Given the description of an element on the screen output the (x, y) to click on. 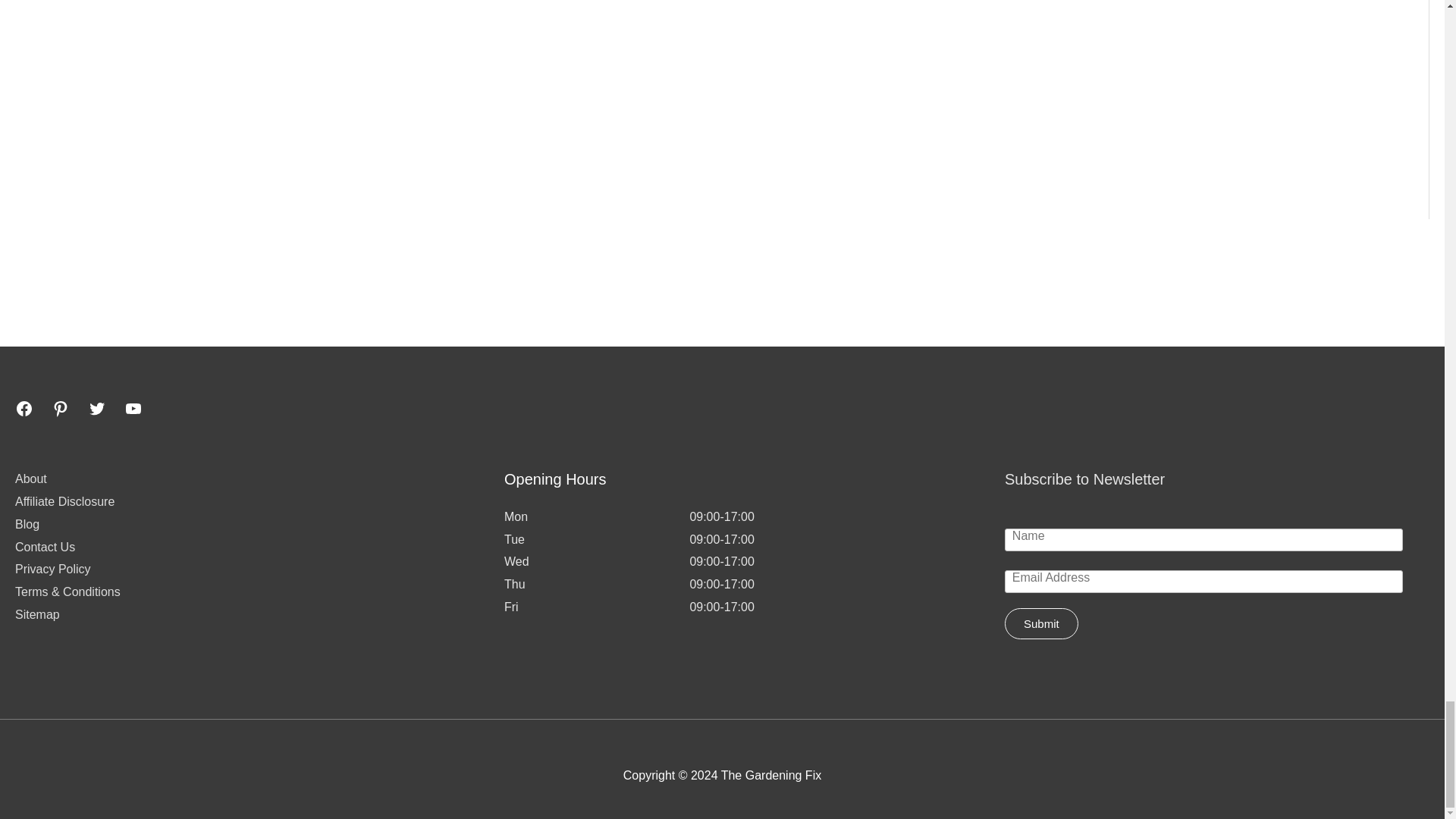
Submit (1041, 623)
Affiliate Disclosure (64, 501)
Twitter (96, 408)
Blog (26, 523)
Facebook (23, 408)
Pinterest (59, 408)
YouTube (132, 408)
Contact Us (44, 546)
About (30, 478)
Privacy Policy (52, 568)
Sitemap (36, 614)
